Given the description of an element on the screen output the (x, y) to click on. 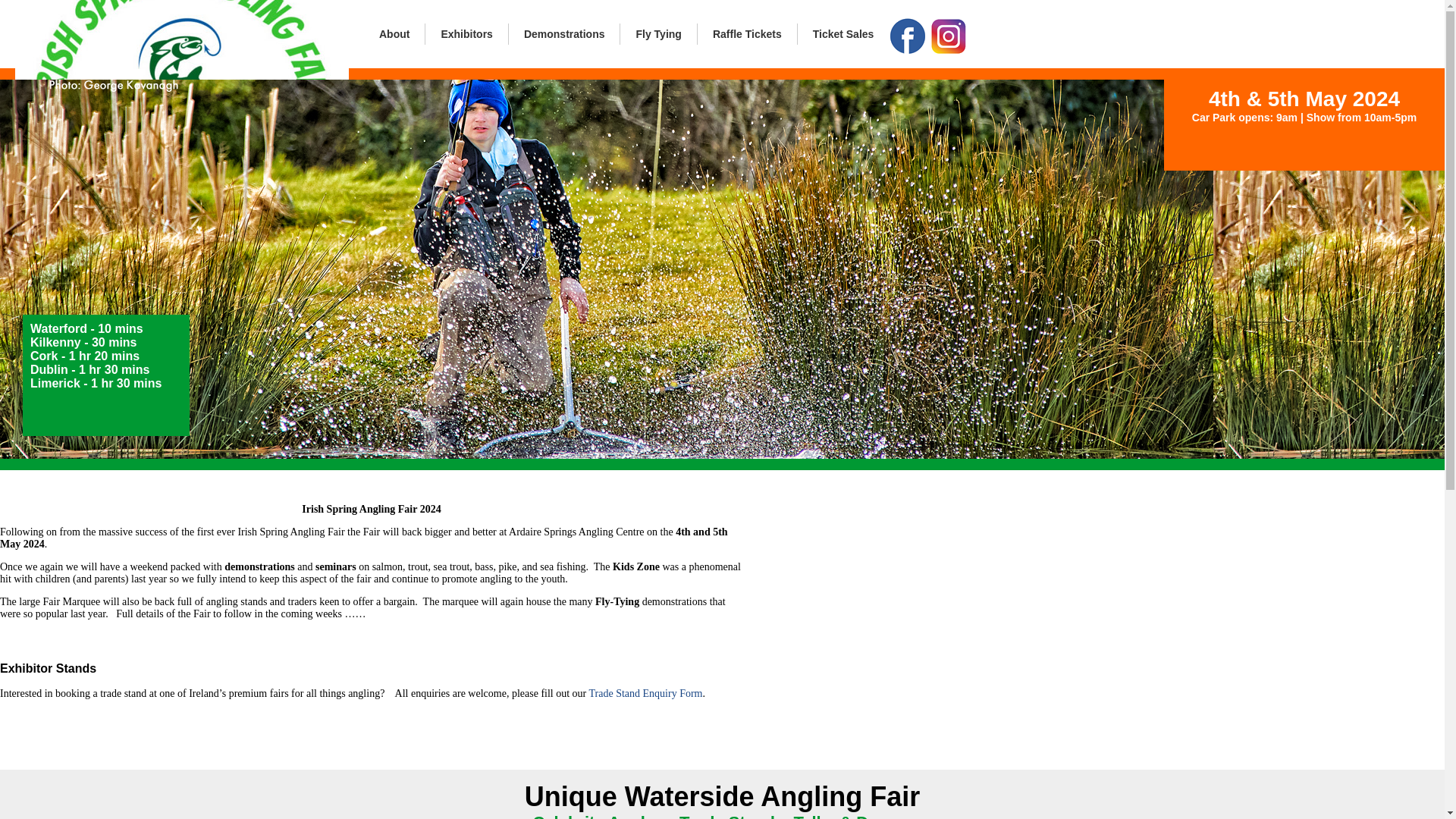
Demonstrations (564, 34)
Fly Tying (657, 34)
Exhibitors (465, 34)
About (394, 34)
